Given the description of an element on the screen output the (x, y) to click on. 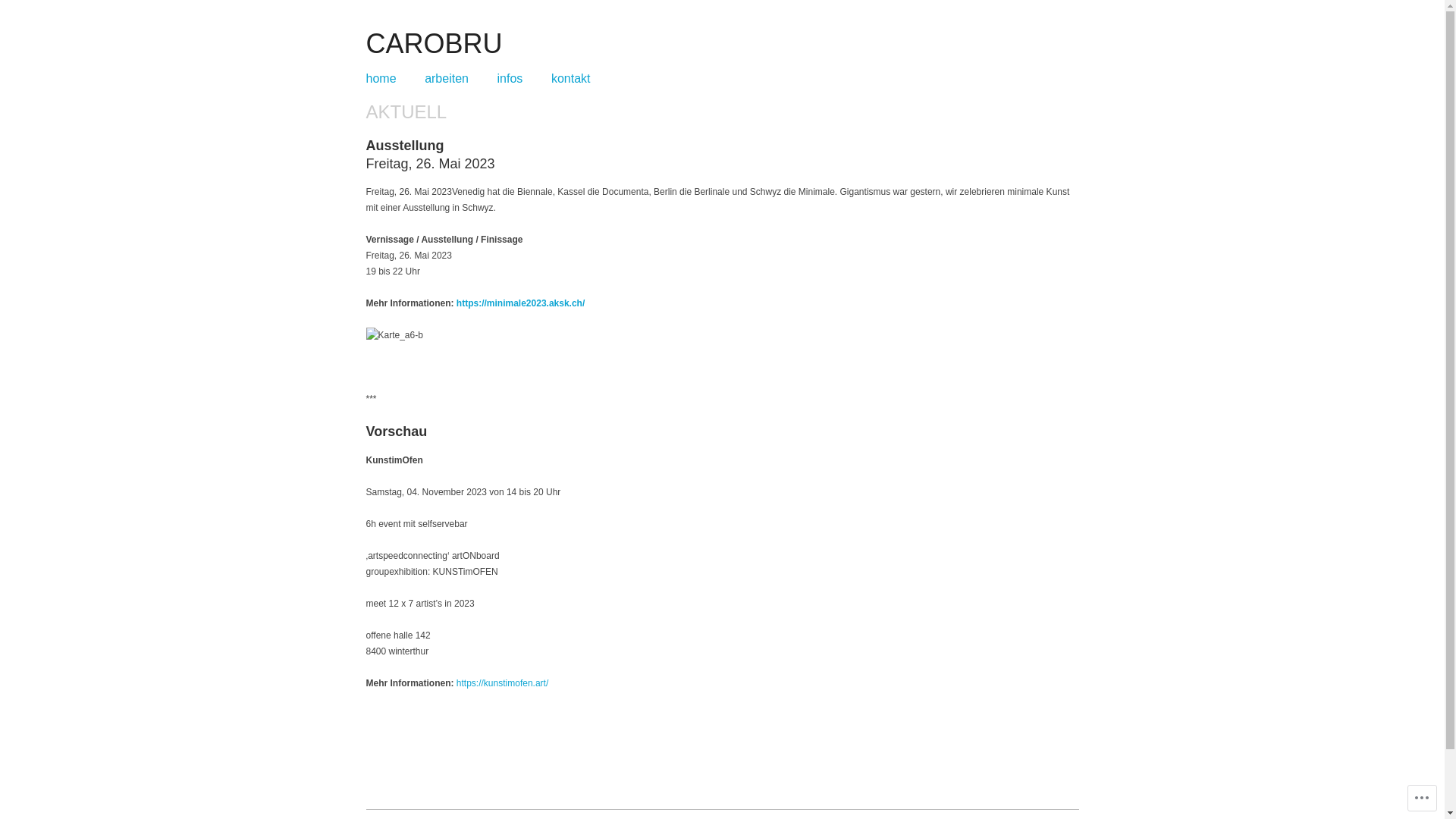
home Element type: text (380, 78)
CAROBRU Element type: text (433, 43)
kontakt Element type: text (570, 78)
zum inhalt springen Element type: text (417, 78)
infos Element type: text (510, 78)
arbeiten Element type: text (446, 78)
https://minimale2023.aksk.ch/ Element type: text (520, 303)
https://kunstimofen.art/ Element type: text (502, 682)
